Given the description of an element on the screen output the (x, y) to click on. 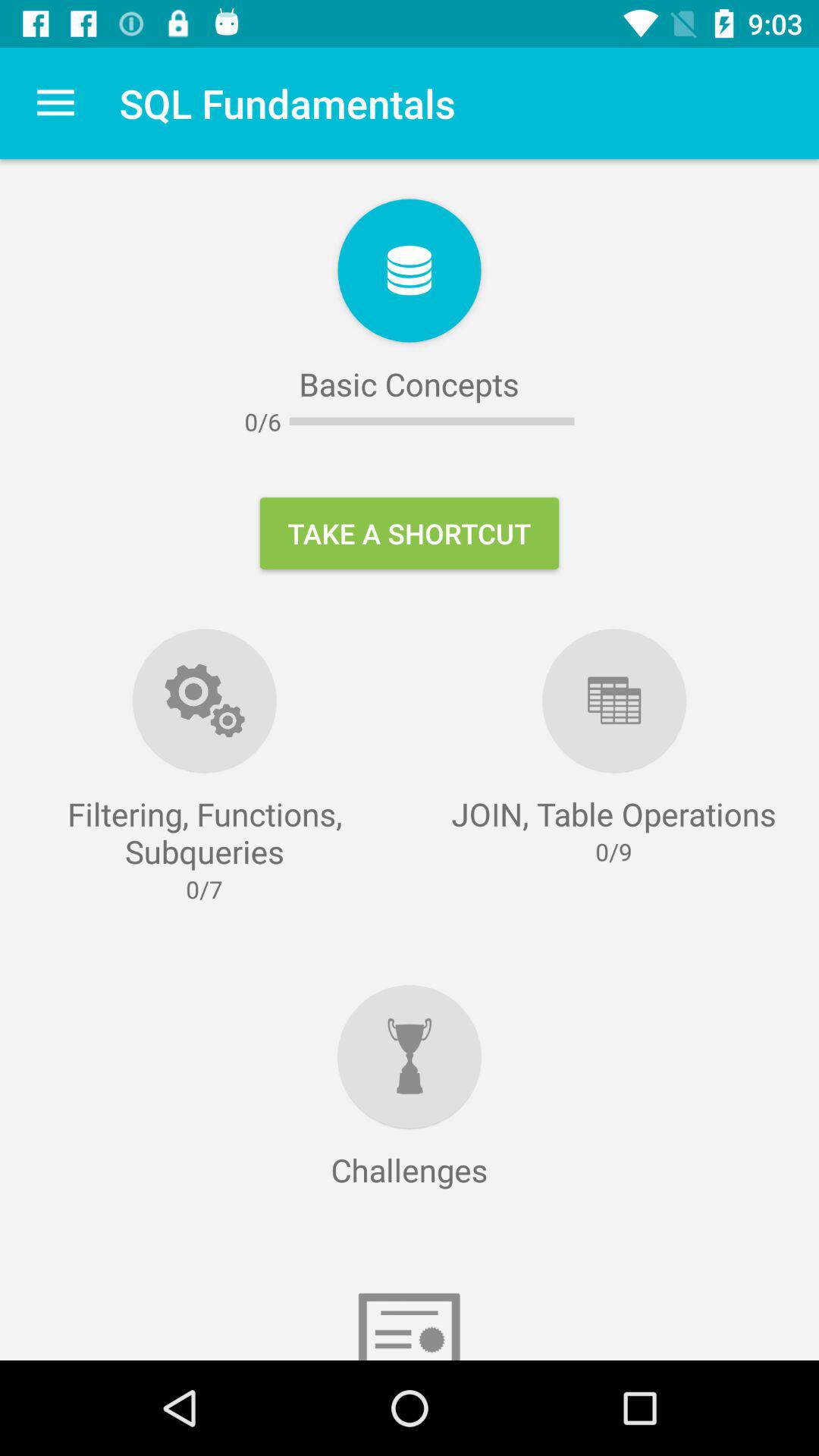
click item above filtering, functions, subqueries icon (55, 103)
